Given the description of an element on the screen output the (x, y) to click on. 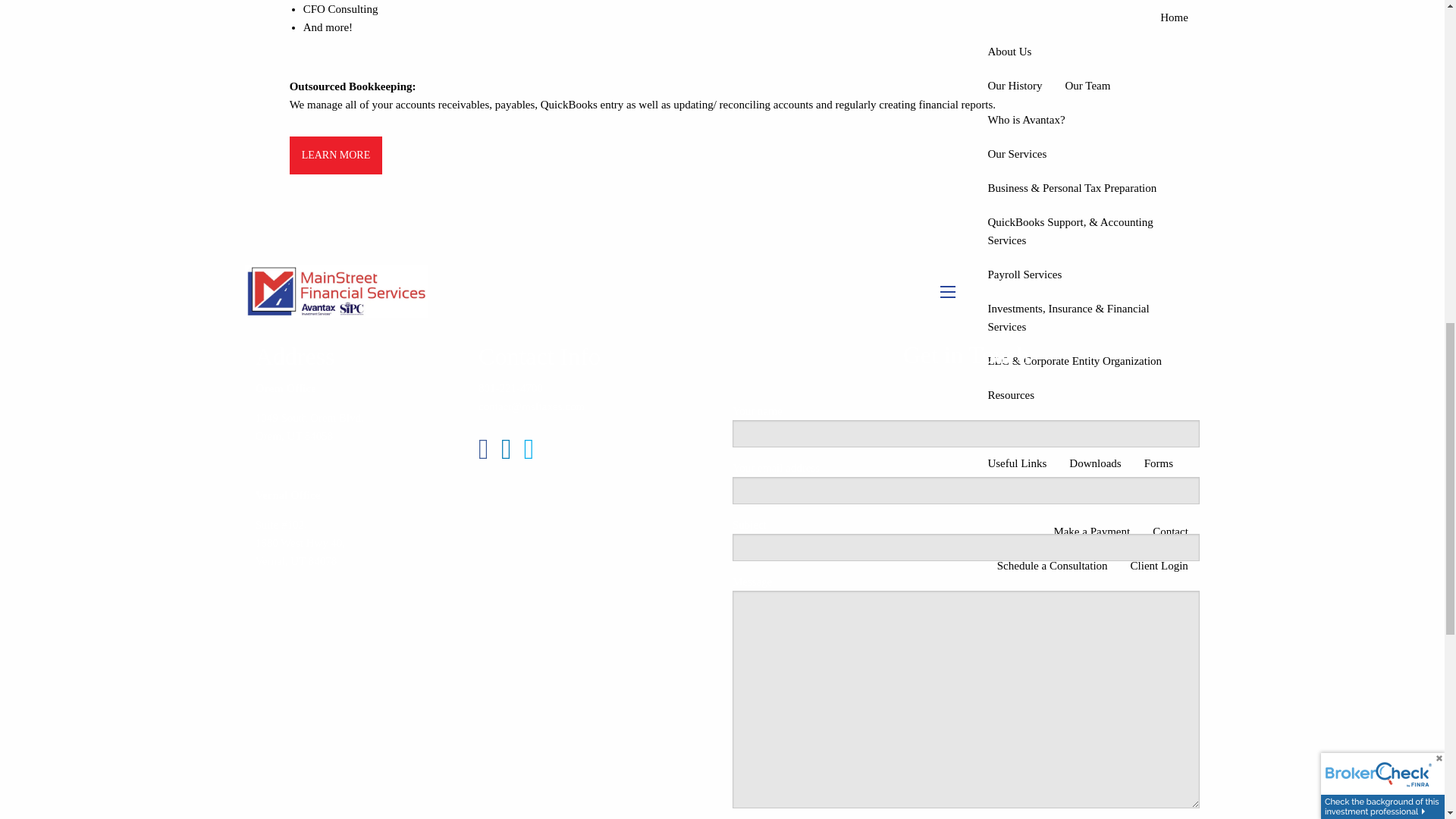
Full-Bookkeeping Services (335, 155)
LEARN MORE (335, 155)
